Given the description of an element on the screen output the (x, y) to click on. 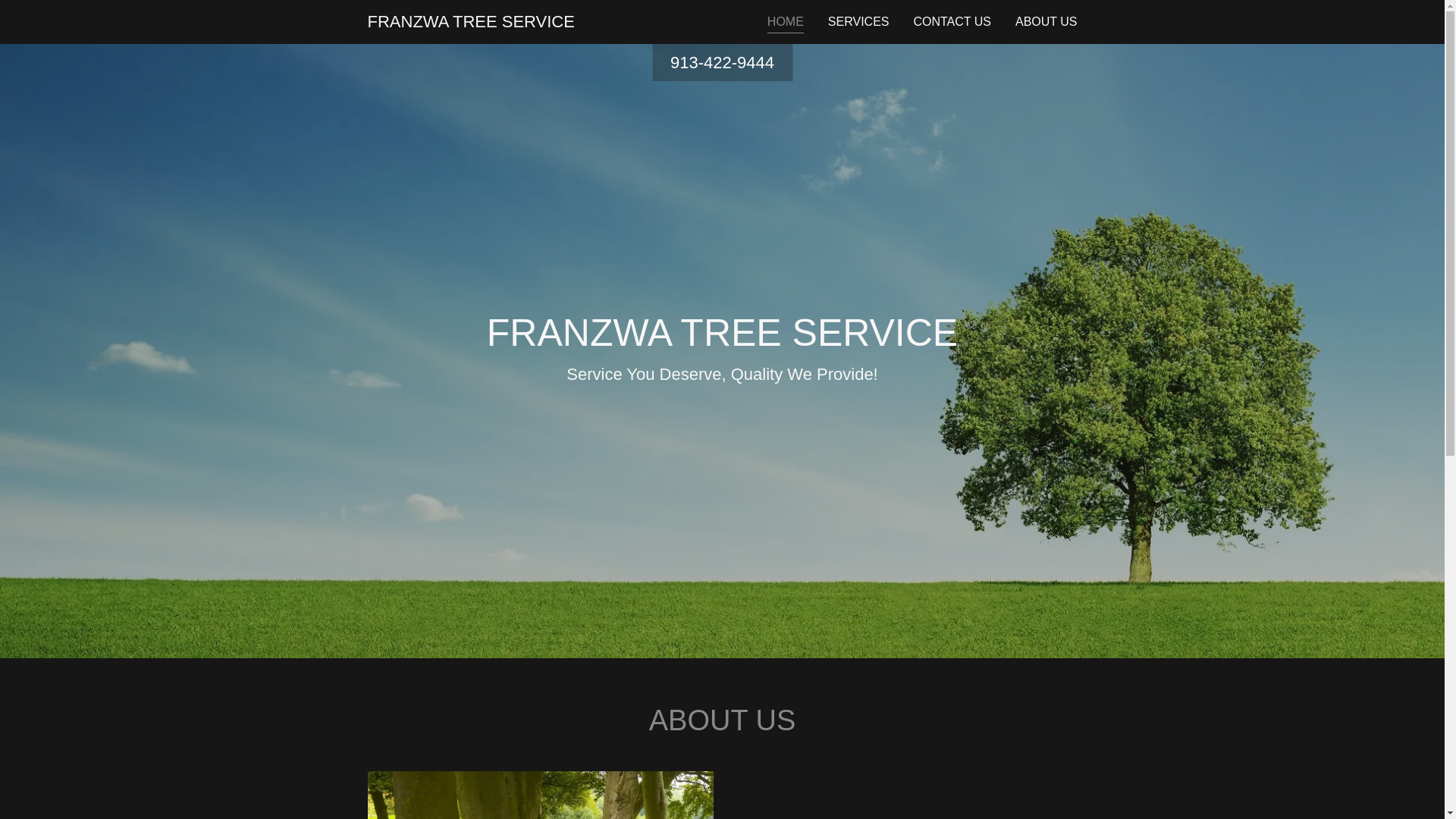
CONTACT US (951, 22)
HOME (785, 23)
SERVICES (858, 22)
ABOUT US (1045, 22)
FRANZWA TREE SERVICE (469, 21)
Franzwa Tree Service (469, 21)
913-422-9444 (721, 62)
